Given the description of an element on the screen output the (x, y) to click on. 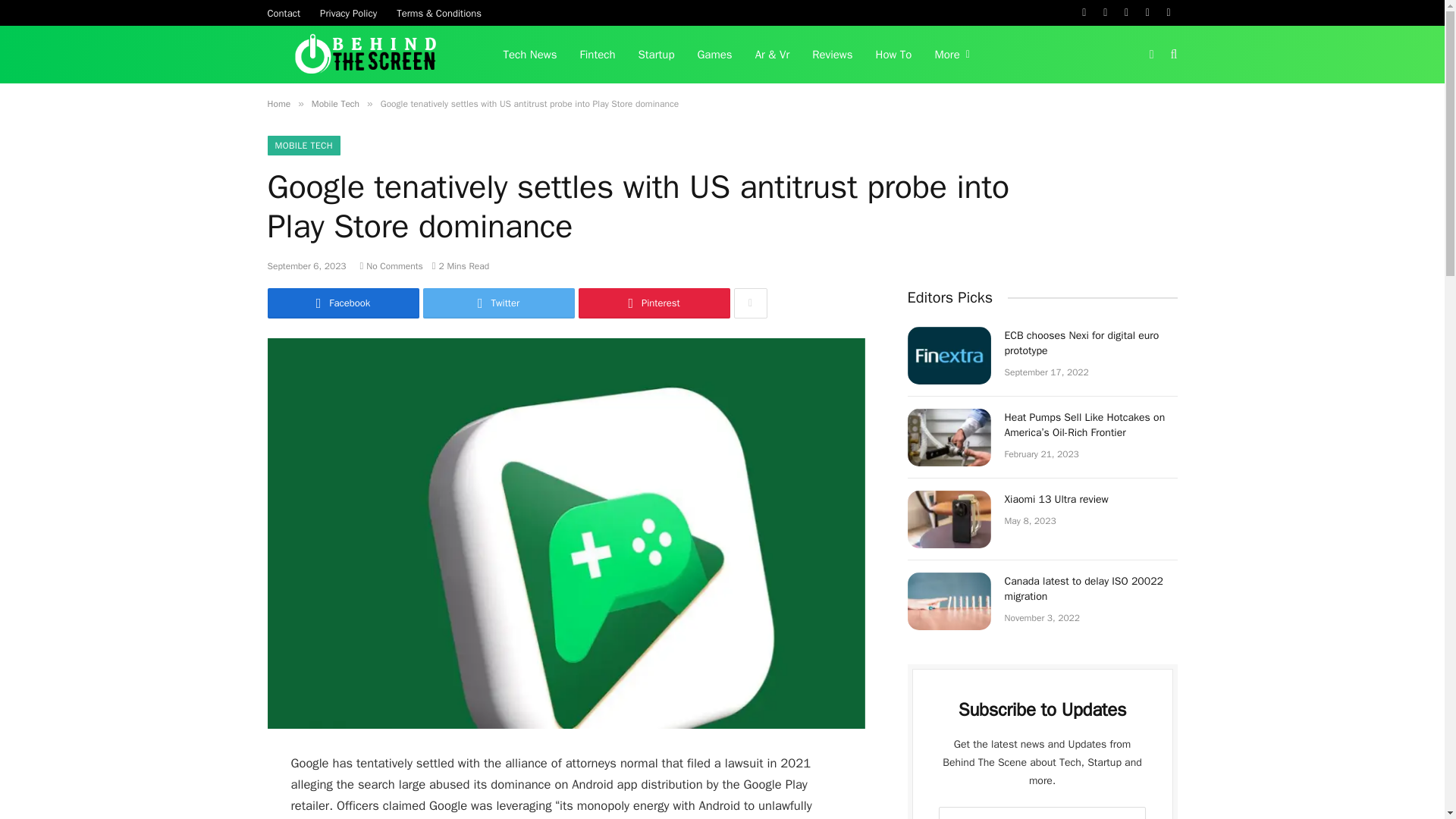
Startup (656, 54)
Pinterest (1147, 12)
Games (713, 54)
Contact (284, 12)
VKontakte (1168, 12)
Fintech (598, 54)
Instagram (1126, 12)
How To (893, 54)
Share on Pinterest (653, 303)
Reviews (831, 54)
Share on Twitter (499, 303)
More (951, 54)
Privacy Policy (348, 12)
Facebook (1084, 12)
Behind The Screen (365, 54)
